Given the description of an element on the screen output the (x, y) to click on. 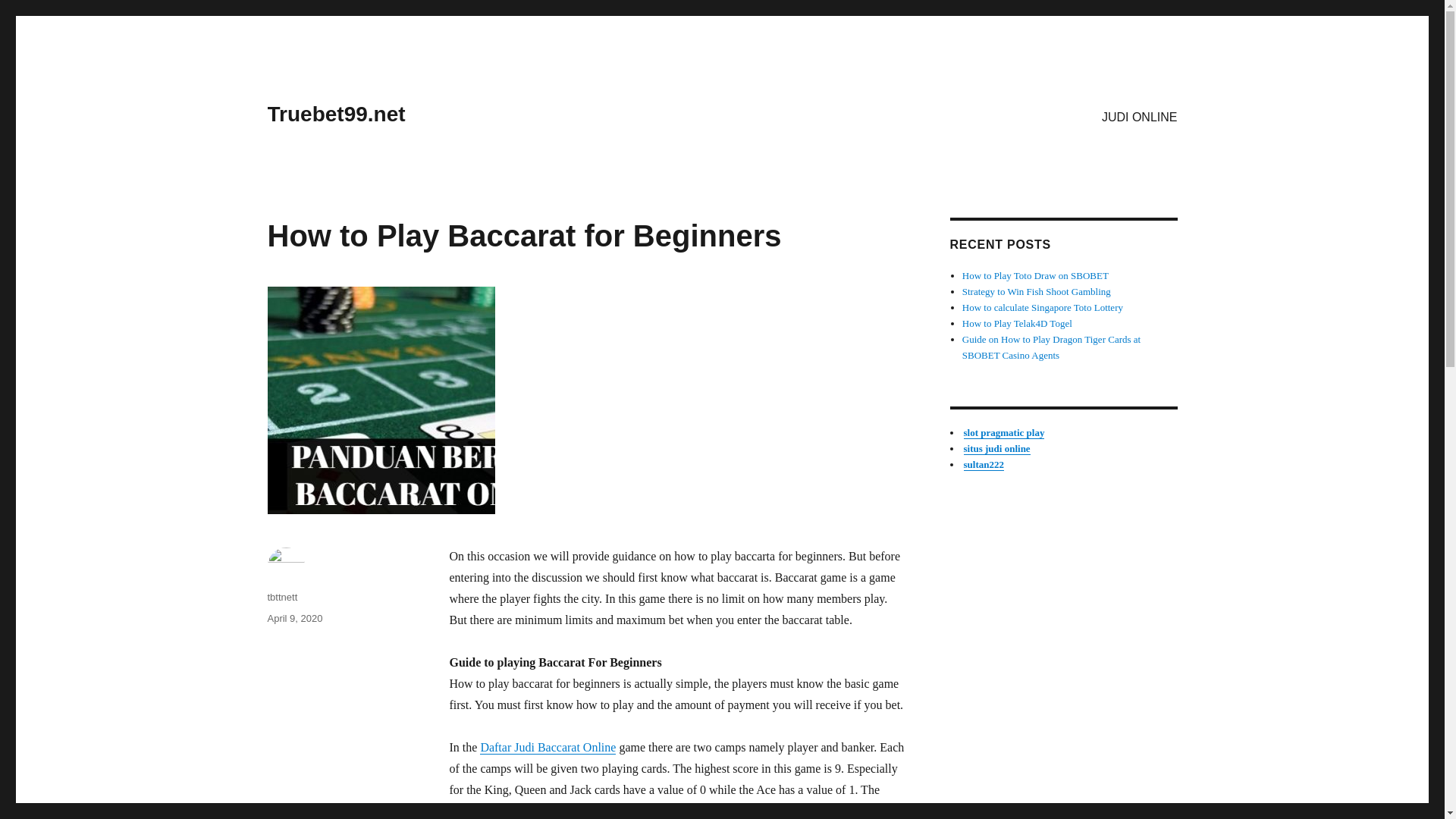
Truebet99.net (335, 114)
Daftar Judi Baccarat Online (547, 747)
JUDI ONLINE (1139, 116)
slot pragmatic play (1002, 432)
How to Play Toto Draw on SBOBET (1035, 275)
April 9, 2020 (293, 618)
Strategy to Win Fish Shoot Gambling (1036, 291)
tbttnett (281, 596)
How to calculate Singapore Toto Lottery (1042, 307)
